Given the description of an element on the screen output the (x, y) to click on. 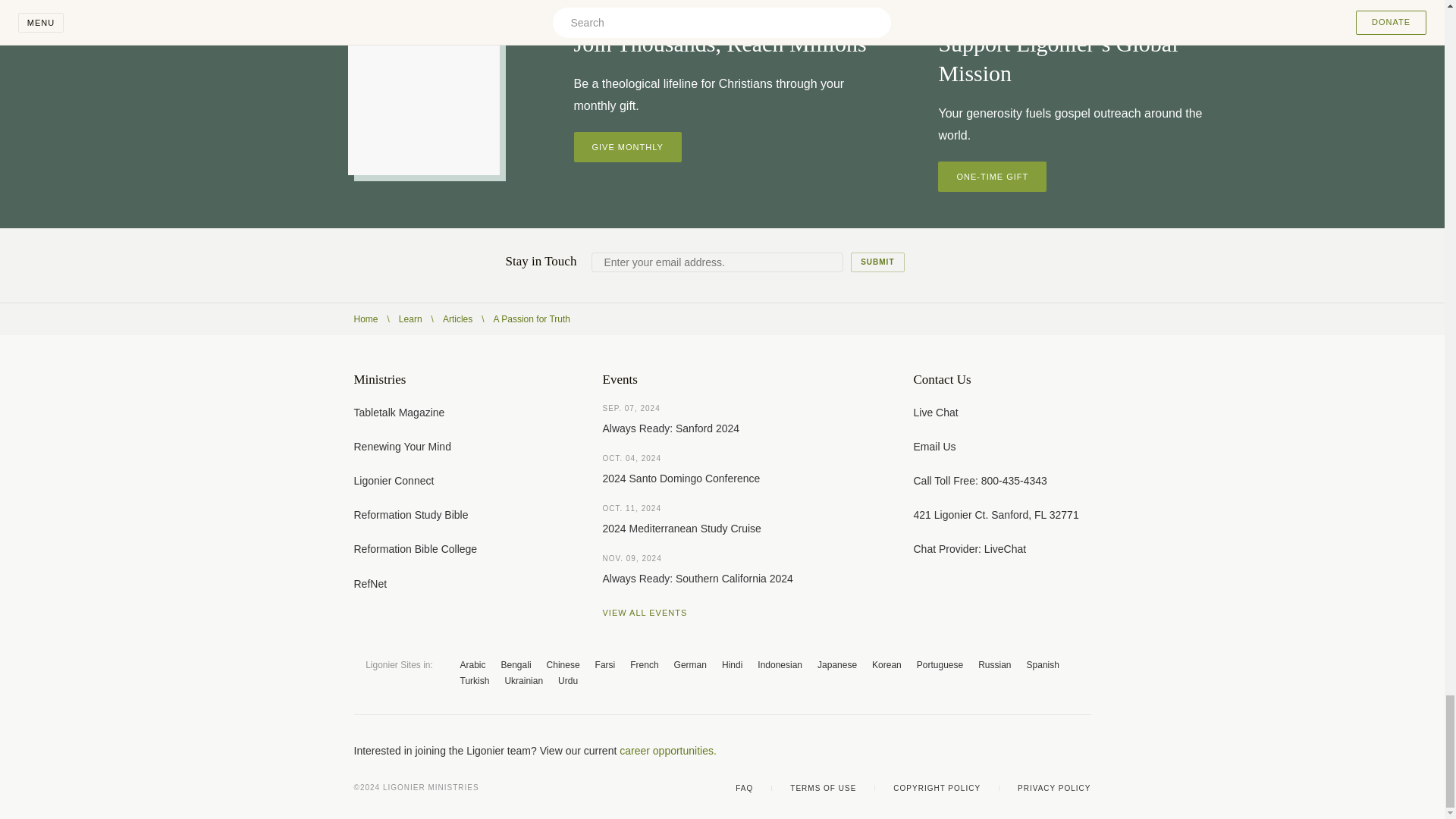
Facebook (962, 751)
Linkedin (1083, 751)
Instagram (1053, 751)
YouTube (1023, 751)
X (993, 751)
